Given the description of an element on the screen output the (x, y) to click on. 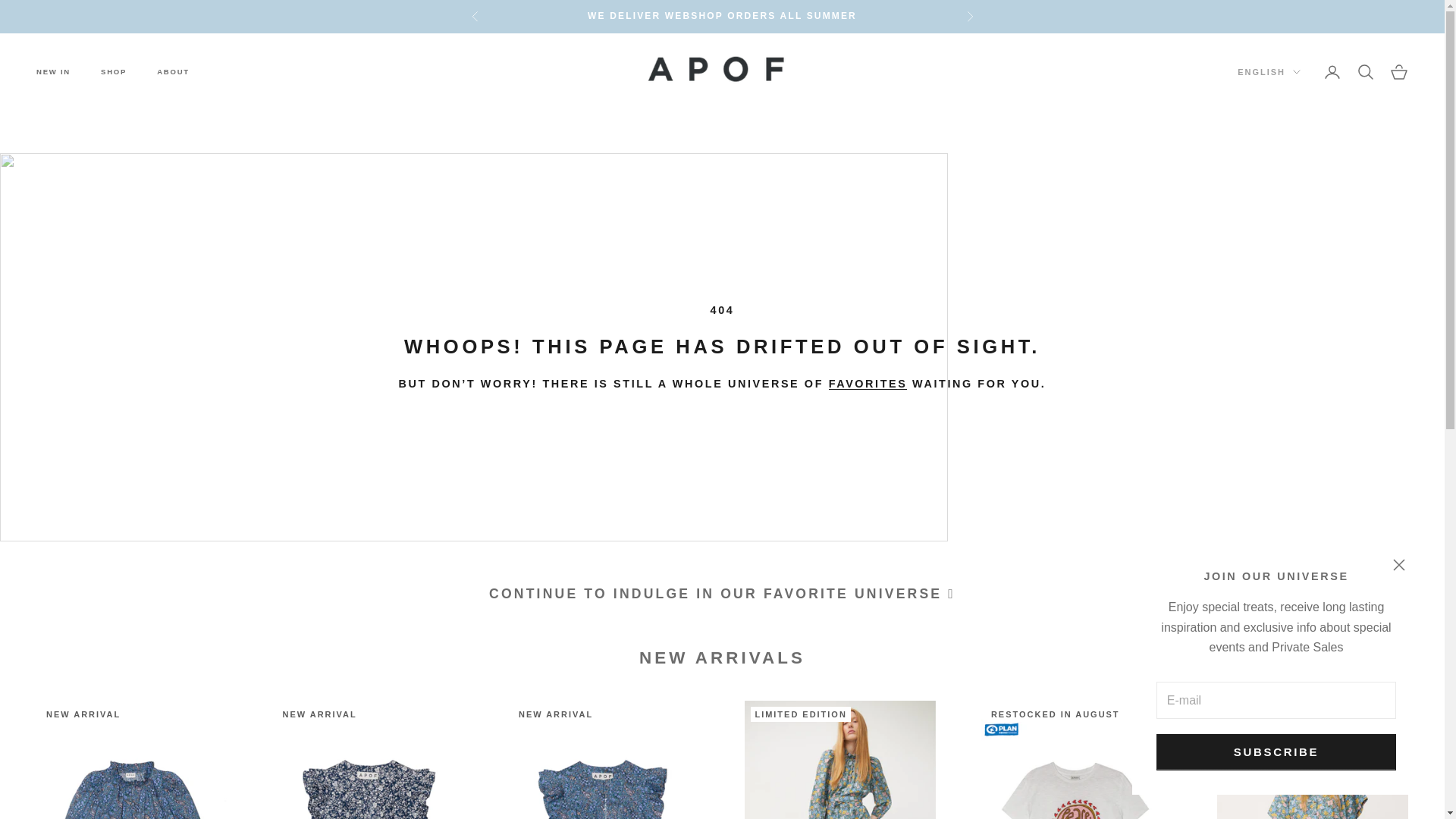
Open account page (1331, 72)
NEW ARRIVALS (867, 383)
Open cart (1398, 72)
ENGLISH (1268, 71)
NEW IN (52, 71)
Open search (1365, 72)
Newsletter popup (1276, 668)
APOF (721, 72)
